Given the description of an element on the screen output the (x, y) to click on. 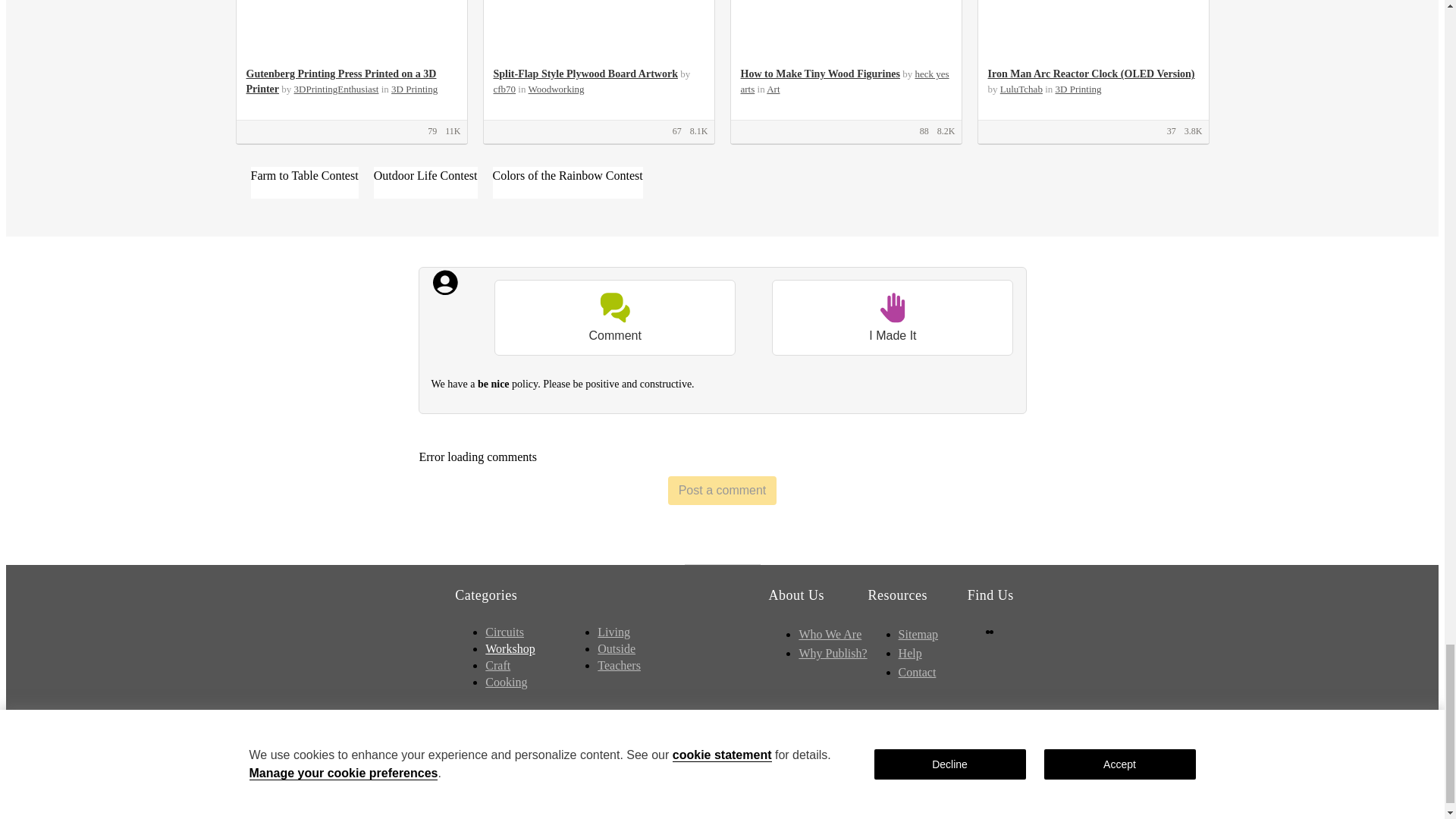
How to Make Tiny Wood Figurines (819, 73)
cfb70 (504, 89)
3DPrintingEnthusiast (336, 89)
Woodworking (555, 89)
Gutenberg Printing Press Printed on a 3D Printer (340, 81)
heck yes arts (844, 81)
Split-Flap Style Plywood Board Artwork (585, 73)
Art (772, 89)
3D Printing (414, 89)
